Given the description of an element on the screen output the (x, y) to click on. 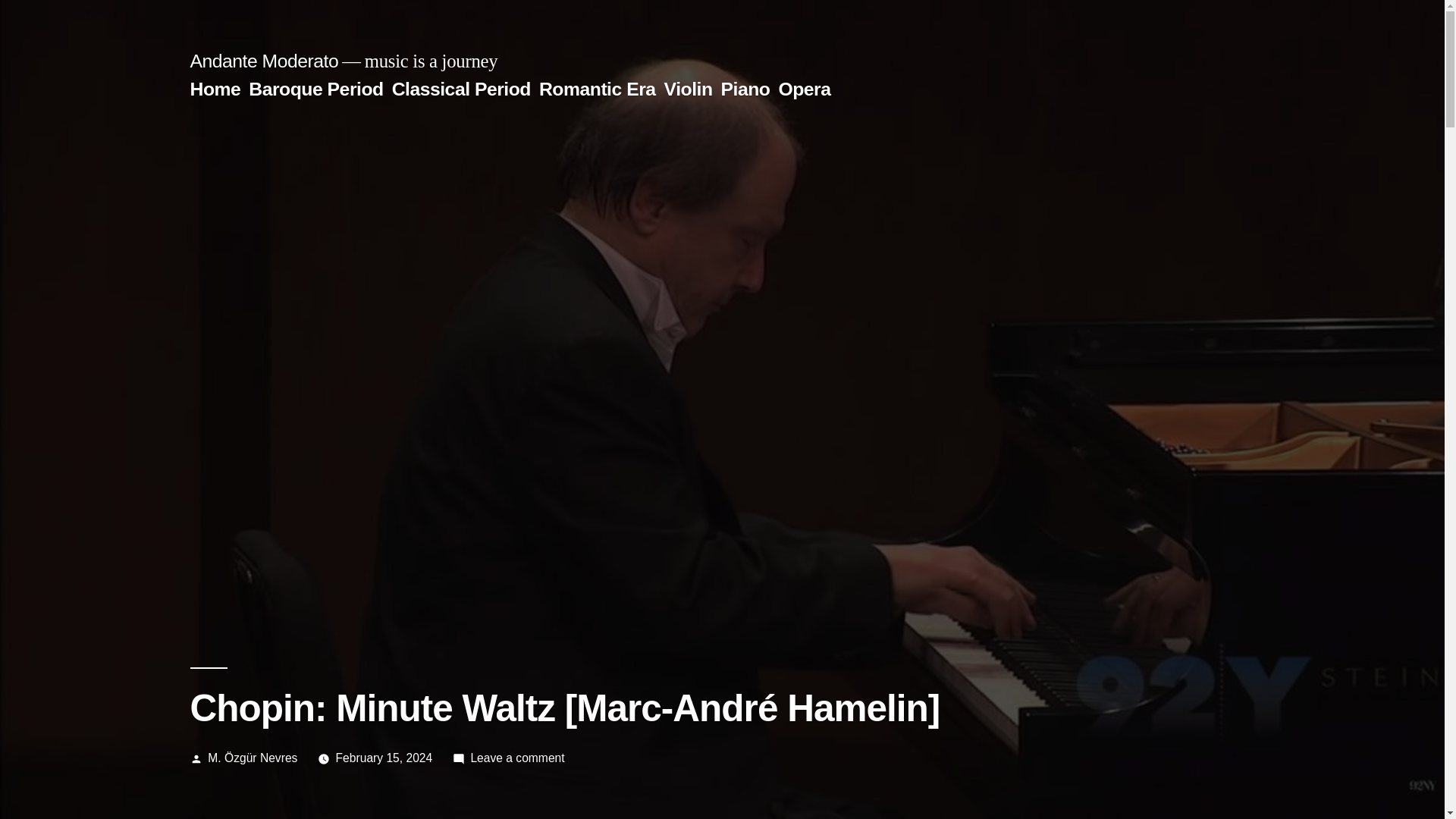
Baroque Period (315, 88)
Home (214, 88)
Piano (745, 88)
Romantic Era (597, 88)
Andante Moderato (263, 60)
Opera (803, 88)
February 15, 2024 (384, 757)
Violin (688, 88)
Classical Period (461, 88)
